Given the description of an element on the screen output the (x, y) to click on. 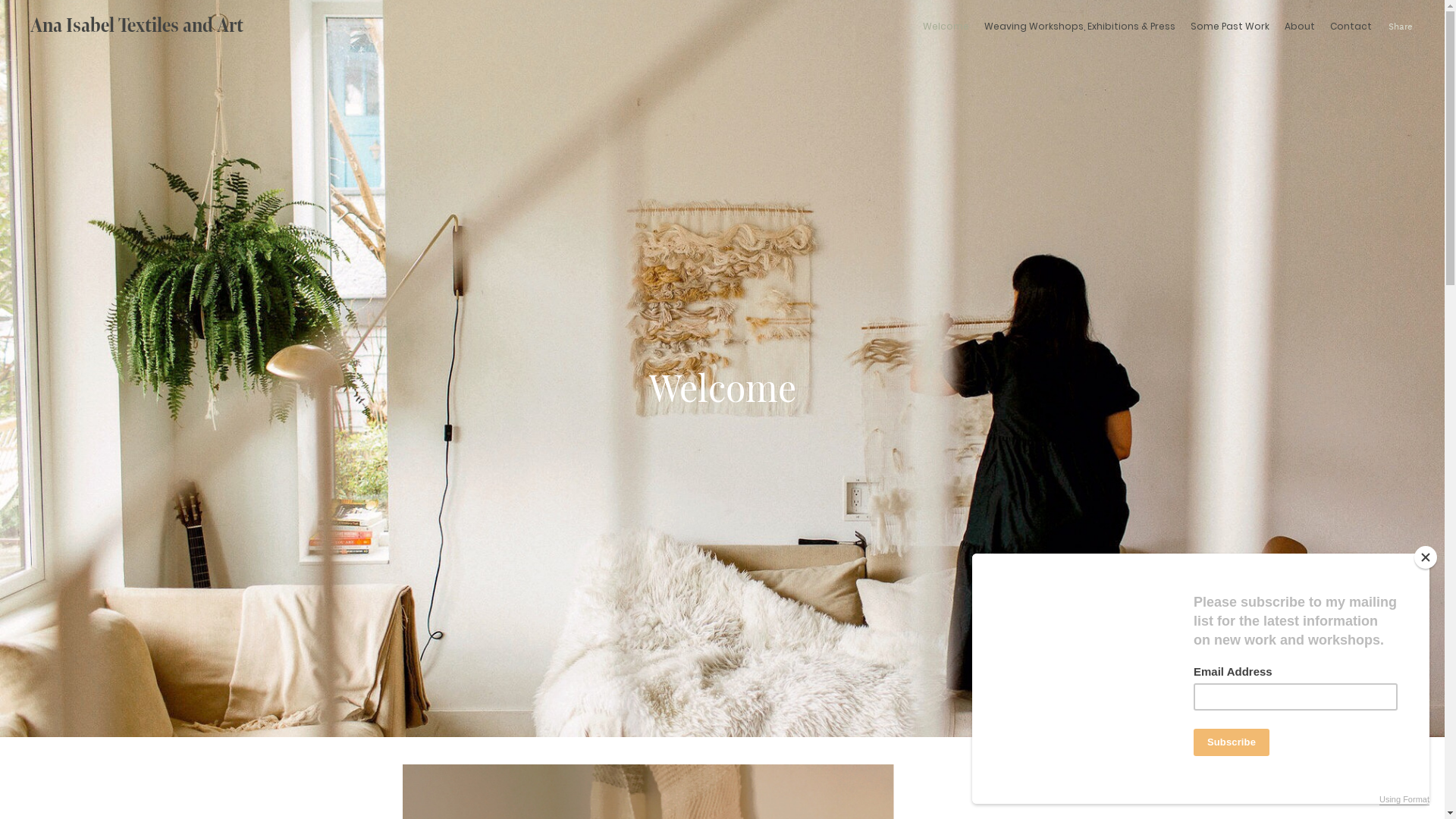
Some Past Work Element type: text (1229, 26)
Welcome Element type: text (945, 26)
Share Element type: text (1400, 25)
Ana Isabel Textiles and Art Element type: text (136, 25)
About Element type: text (1299, 26)
Using Format Element type: text (1404, 799)
Contact Element type: text (1350, 26)
Weaving Workshops, Exhibitions & Press Element type: text (1079, 26)
